Given the description of an element on the screen output the (x, y) to click on. 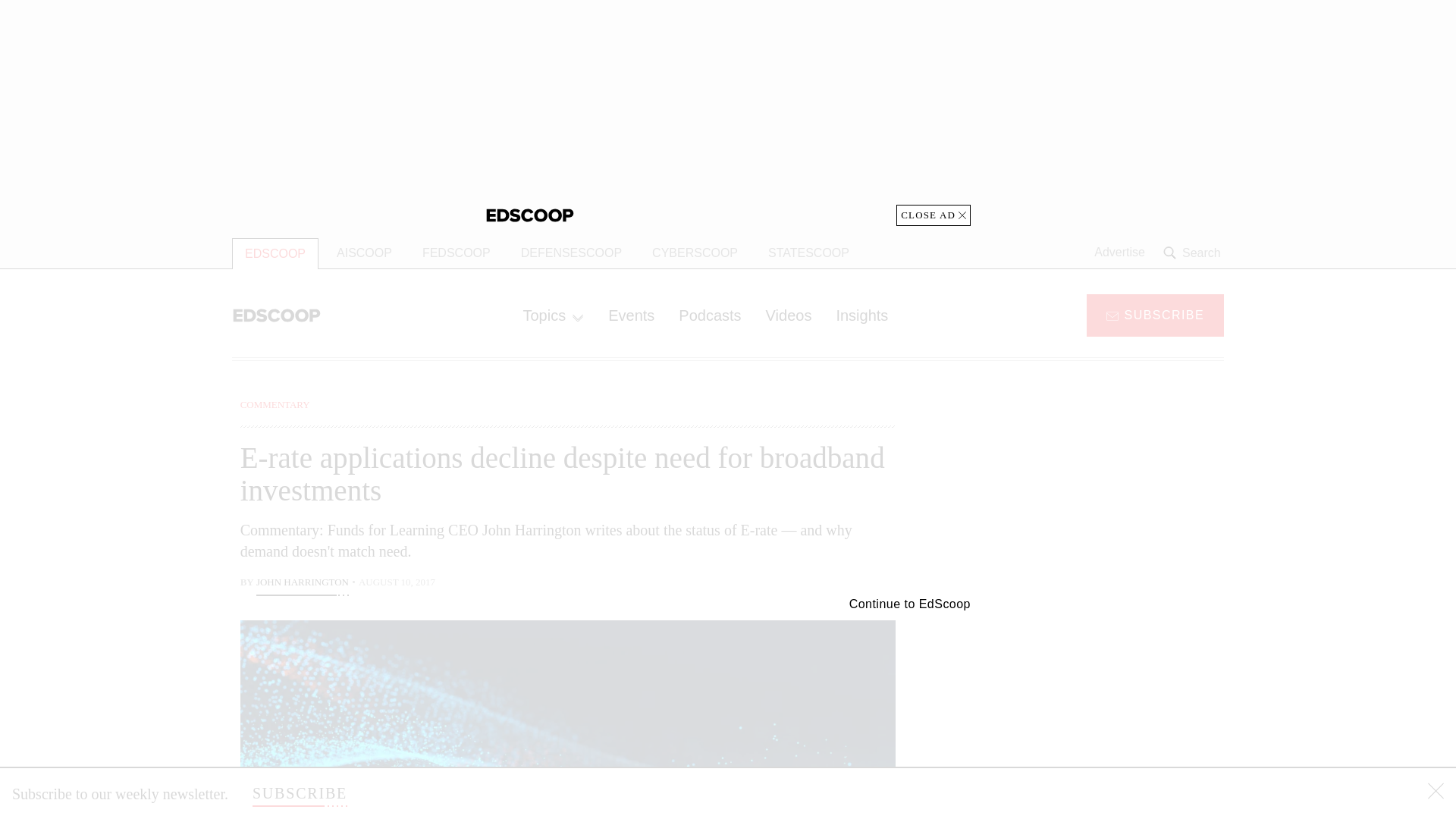
CYBERSCOOP (694, 253)
Videos (789, 315)
SUBSCRIBE (1155, 314)
Events (630, 315)
3rd party ad content (1101, 705)
DEFENSESCOOP (570, 253)
STATESCOOP (808, 253)
Topics (553, 315)
3rd party ad content (1101, 492)
Advertise (1119, 252)
Podcasts (709, 315)
SUBSCRIBE (299, 793)
FEDSCOOP (456, 253)
Insights (861, 315)
